Given the description of an element on the screen output the (x, y) to click on. 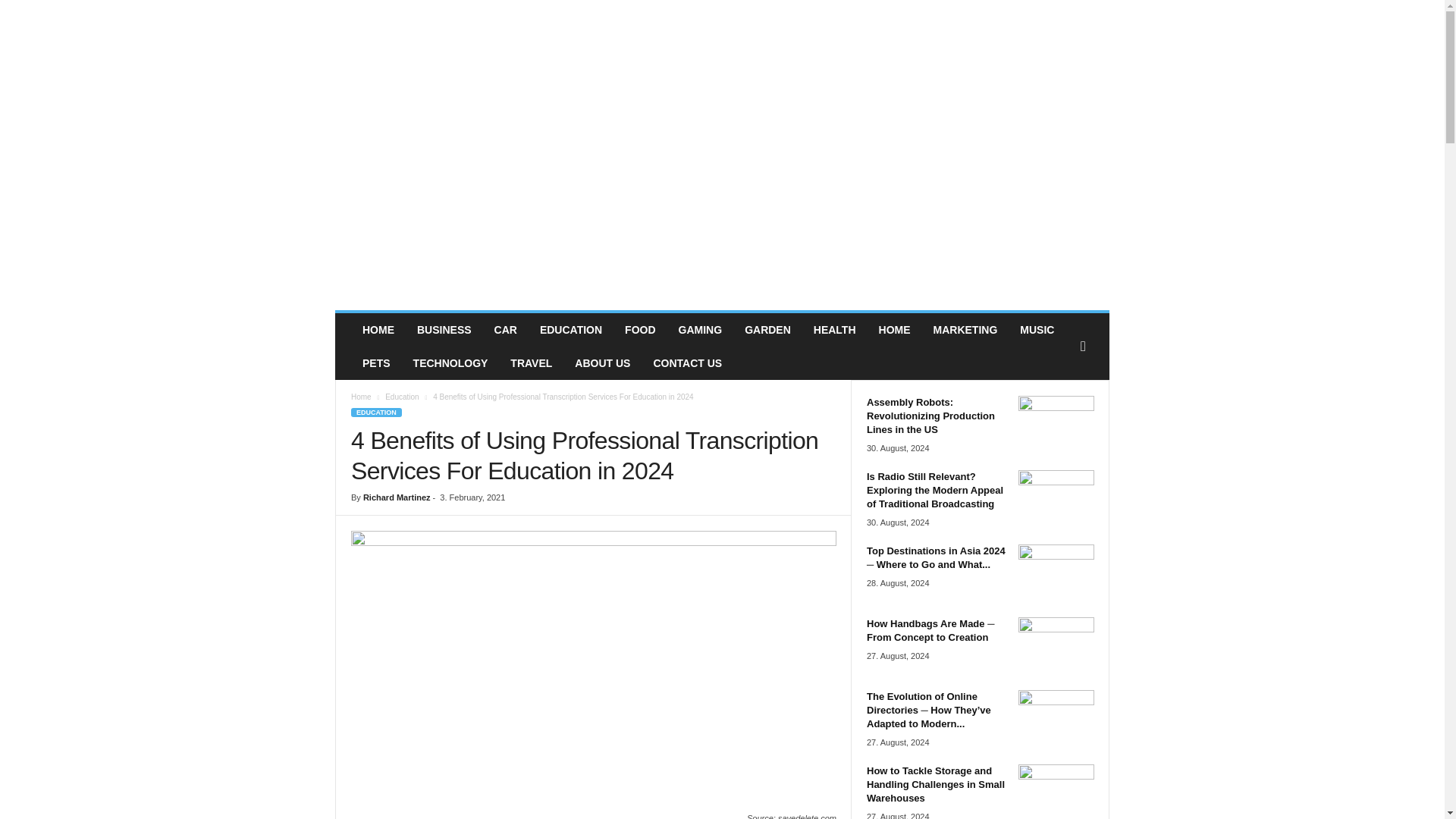
BUSINESS (444, 329)
HOME (378, 329)
Richard Martinez (396, 497)
CAR (505, 329)
Education (402, 397)
CONTACT US (687, 363)
GAMING (699, 329)
PETS (375, 363)
TECHNOLOGY (450, 363)
EDUCATION (570, 329)
